Given the description of an element on the screen output the (x, y) to click on. 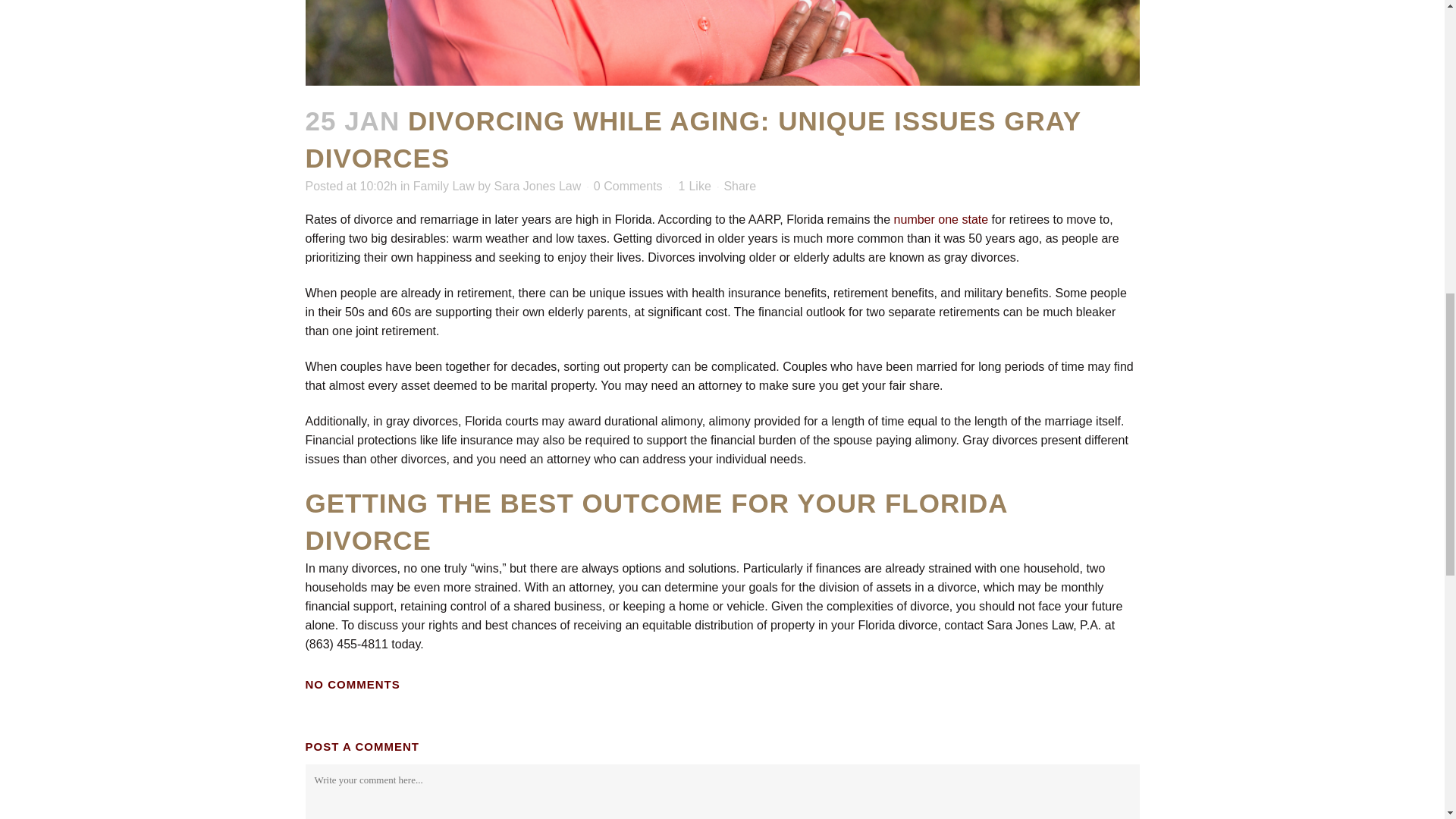
0 Comments (628, 185)
1 Like (694, 185)
number one state (940, 219)
Share (739, 185)
Sara Jones Law (537, 185)
Like this (694, 185)
Family Law (443, 185)
